Given the description of an element on the screen output the (x, y) to click on. 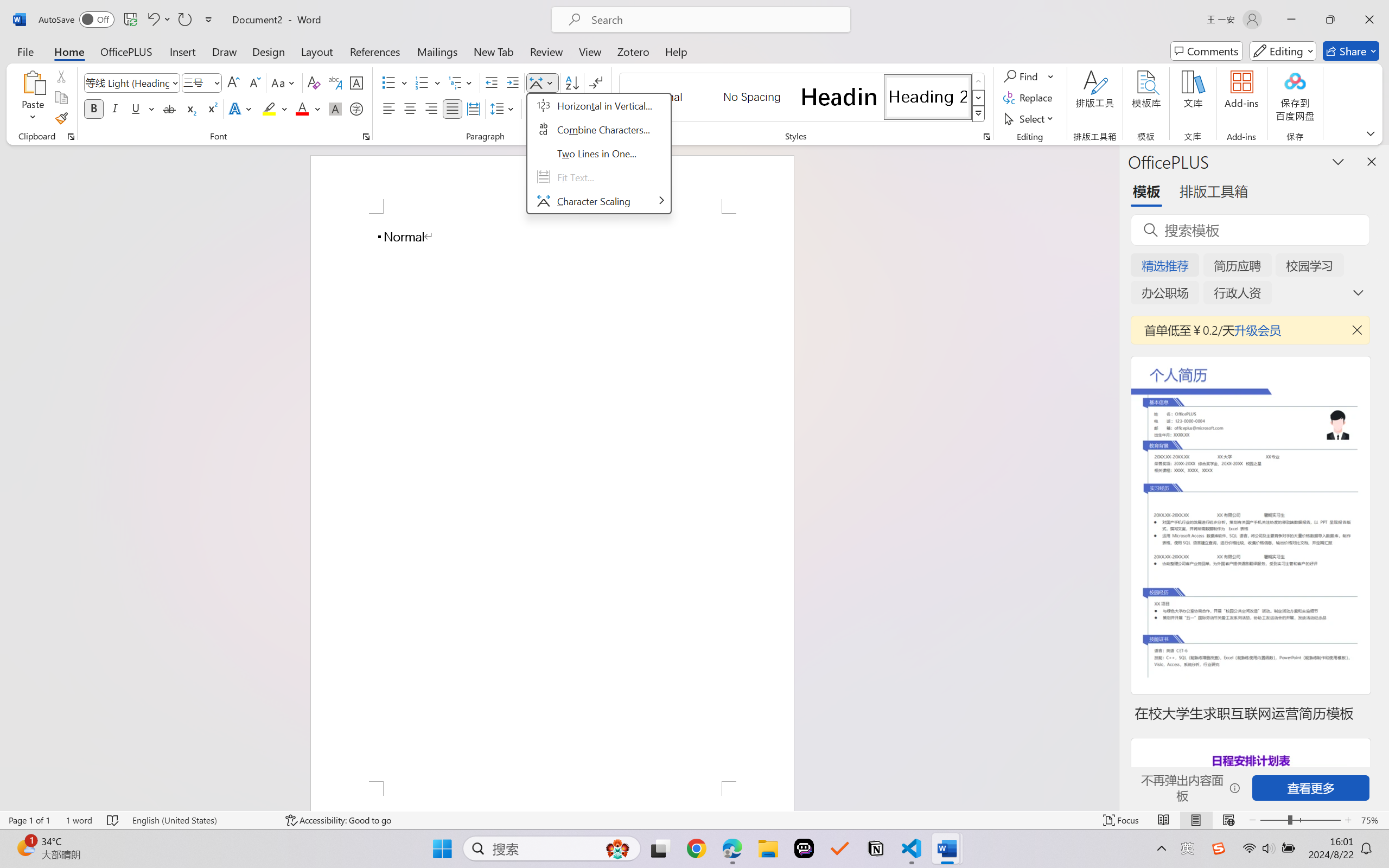
Review (546, 51)
Class: NetUIImage (978, 114)
Format Painter (60, 118)
Change Case (284, 82)
Superscript (210, 108)
Italic (115, 108)
Customize Quick Access Toolbar (208, 19)
New Tab (493, 51)
Open (215, 82)
Underline (135, 108)
Character Border (356, 82)
